Given the description of an element on the screen output the (x, y) to click on. 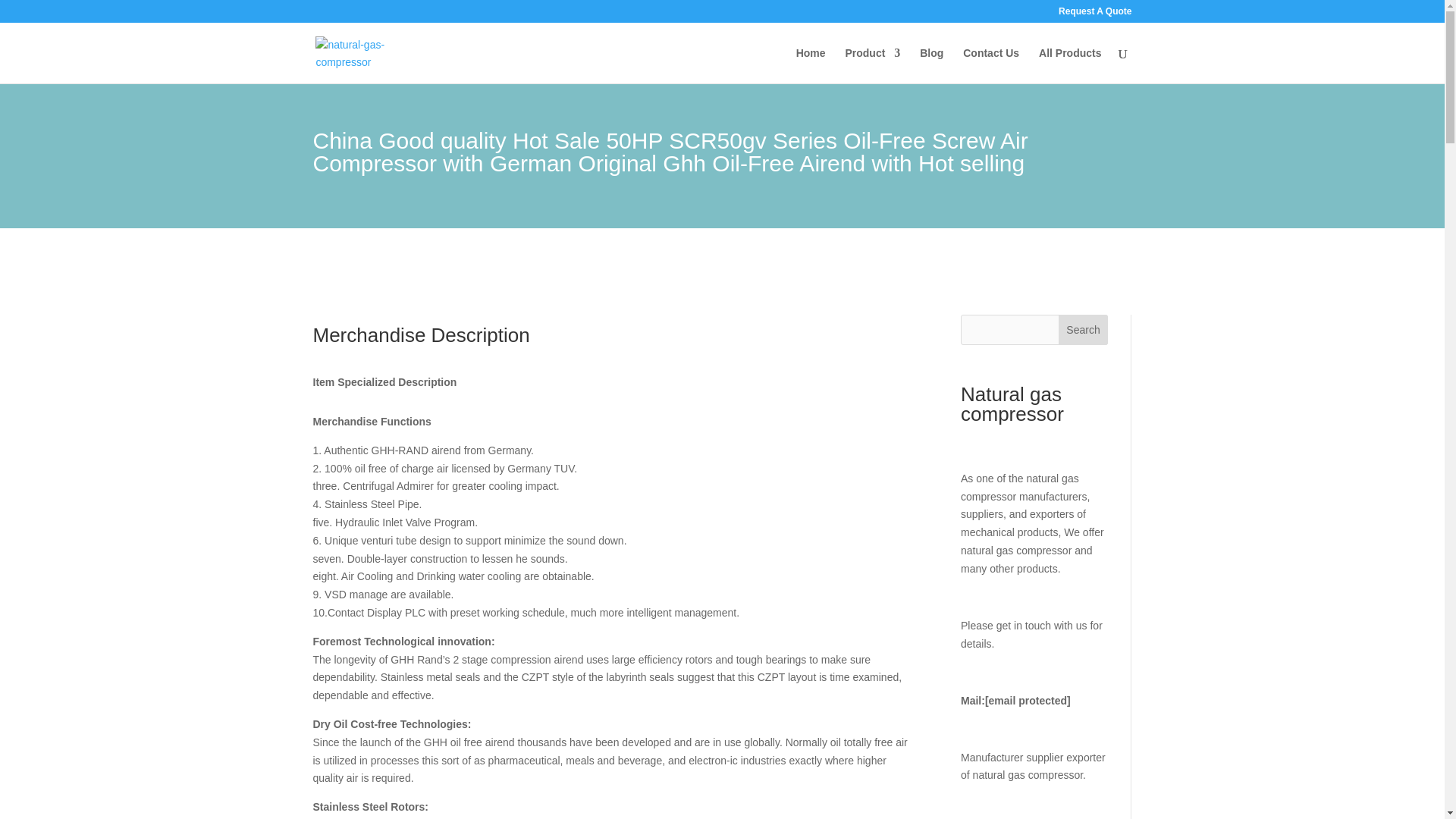
Contact Us (990, 65)
All Products (1069, 65)
Product (871, 65)
Request A Quote (1094, 14)
